Given the description of an element on the screen output the (x, y) to click on. 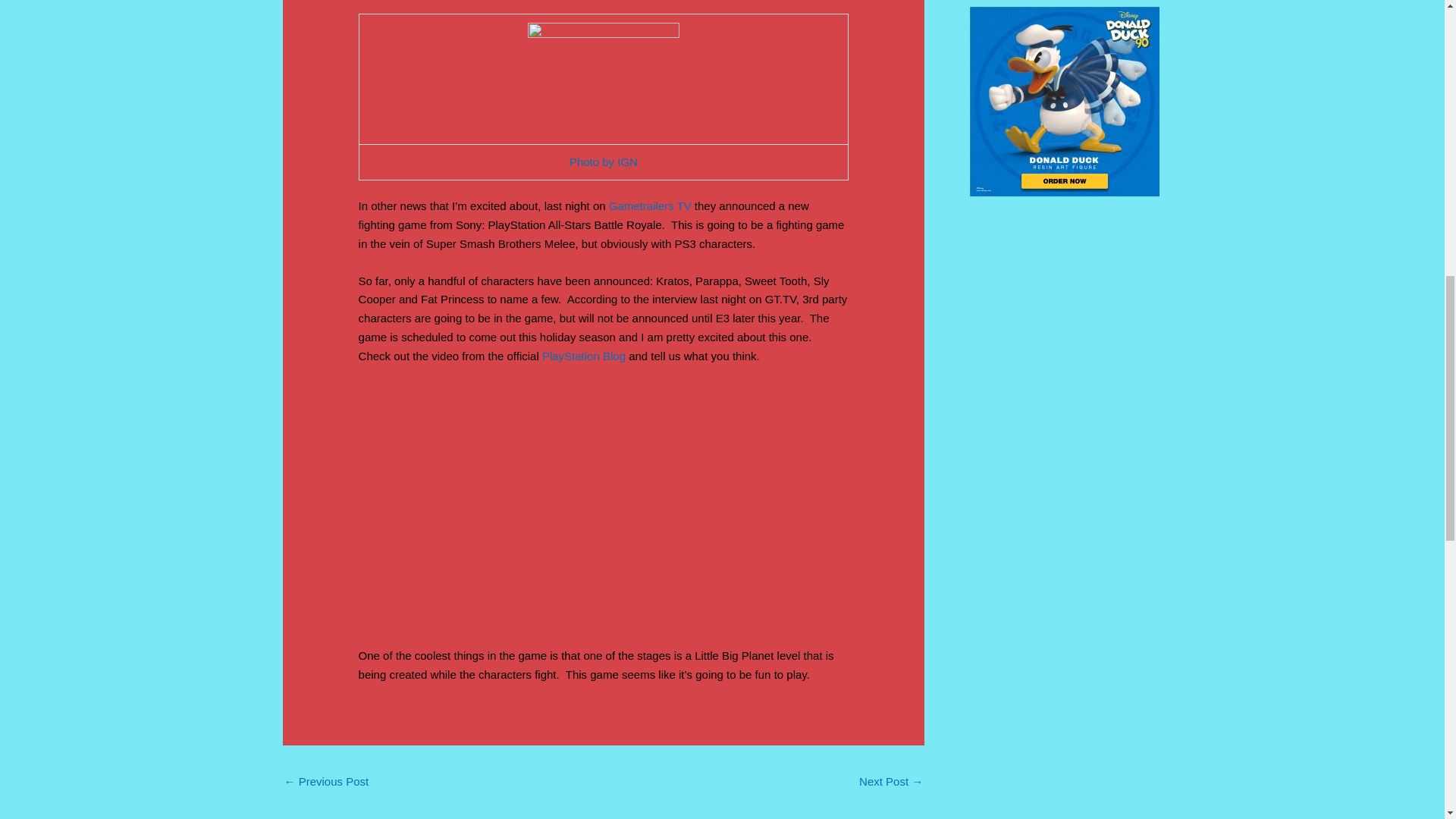
To Buy or Not to Buy (891, 782)
C2E2 Recap (325, 782)
